Given the description of an element on the screen output the (x, y) to click on. 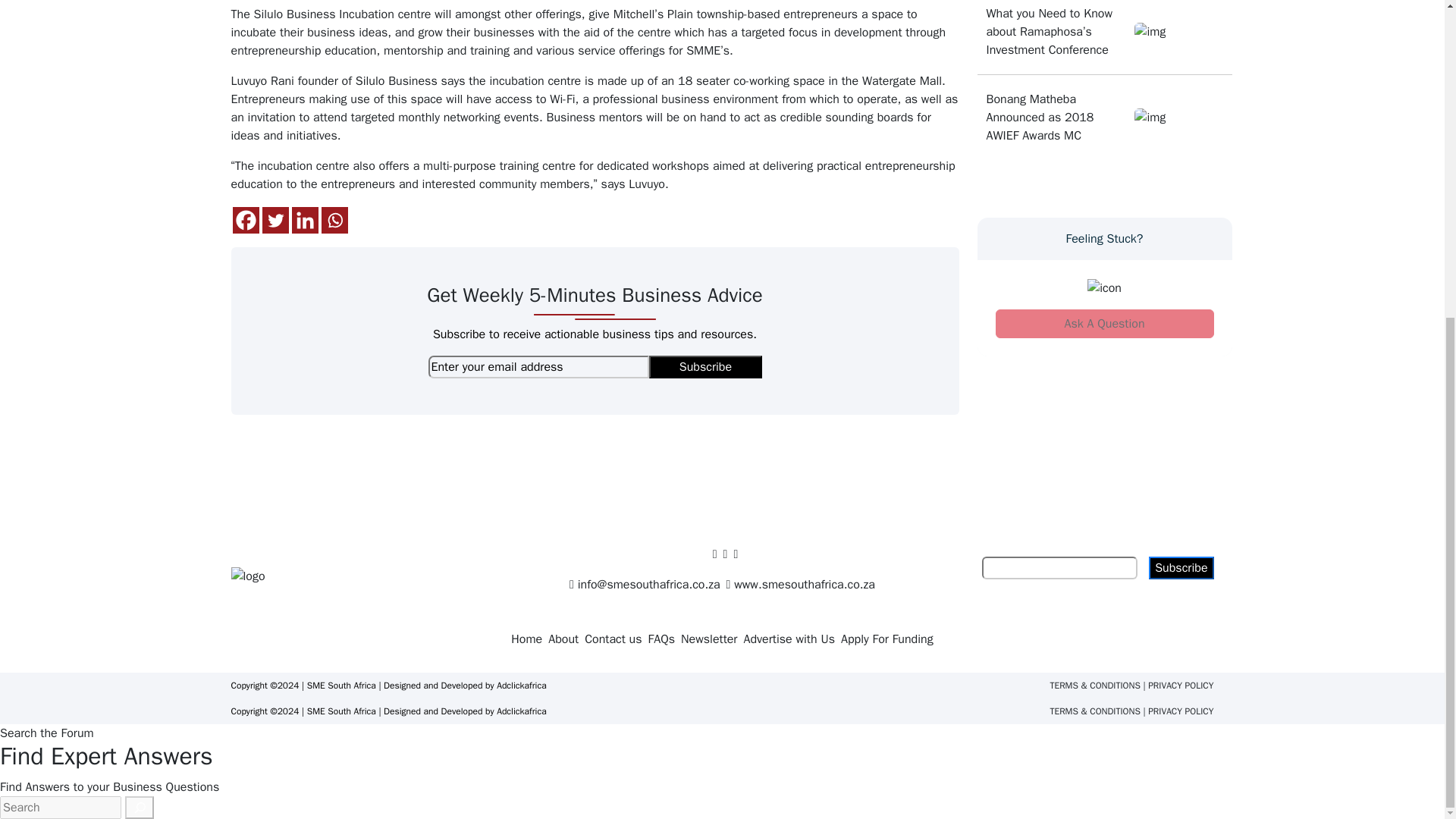
Twitter (275, 220)
Subscribe (705, 366)
Ask A Question (1103, 323)
Linkedin (304, 220)
Bonang Matheba Announced as 2018 AWIEF Awards MC (1055, 117)
Facebook (245, 220)
Whatsapp (334, 220)
